Given the description of an element on the screen output the (x, y) to click on. 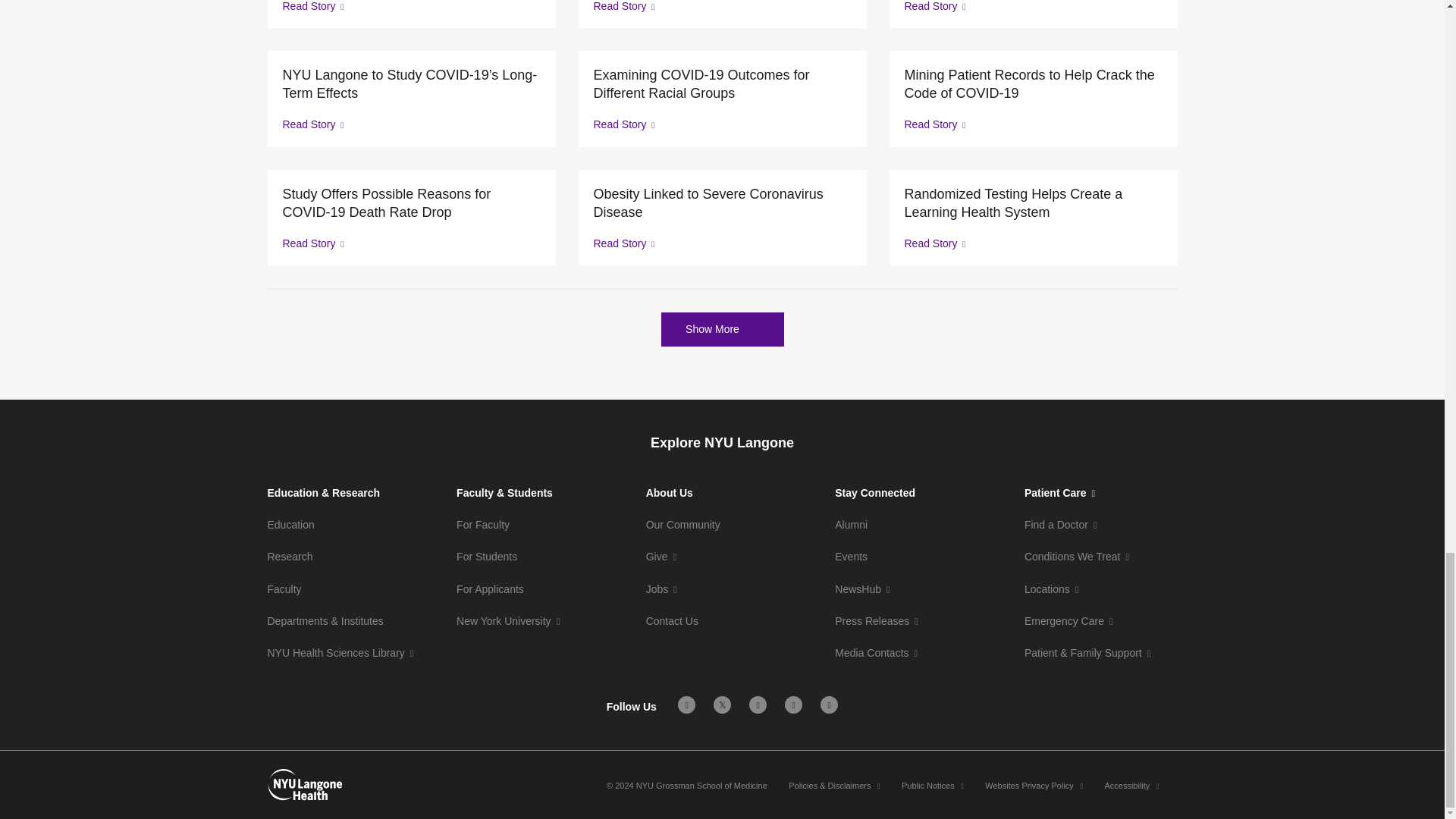
Study Offers Possible Reasons for COVID-19 Death Rate Drop (411, 203)
Randomized Testing Helps Create a Learning Health System (1032, 203)
Obesity Linked to Severe Coronavirus Disease (721, 203)
Mining Patient Records to Help Crack the Code of COVID-19 (1032, 84)
Examining COVID-19 Outcomes for Different Racial Groups (721, 84)
